Given the description of an element on the screen output the (x, y) to click on. 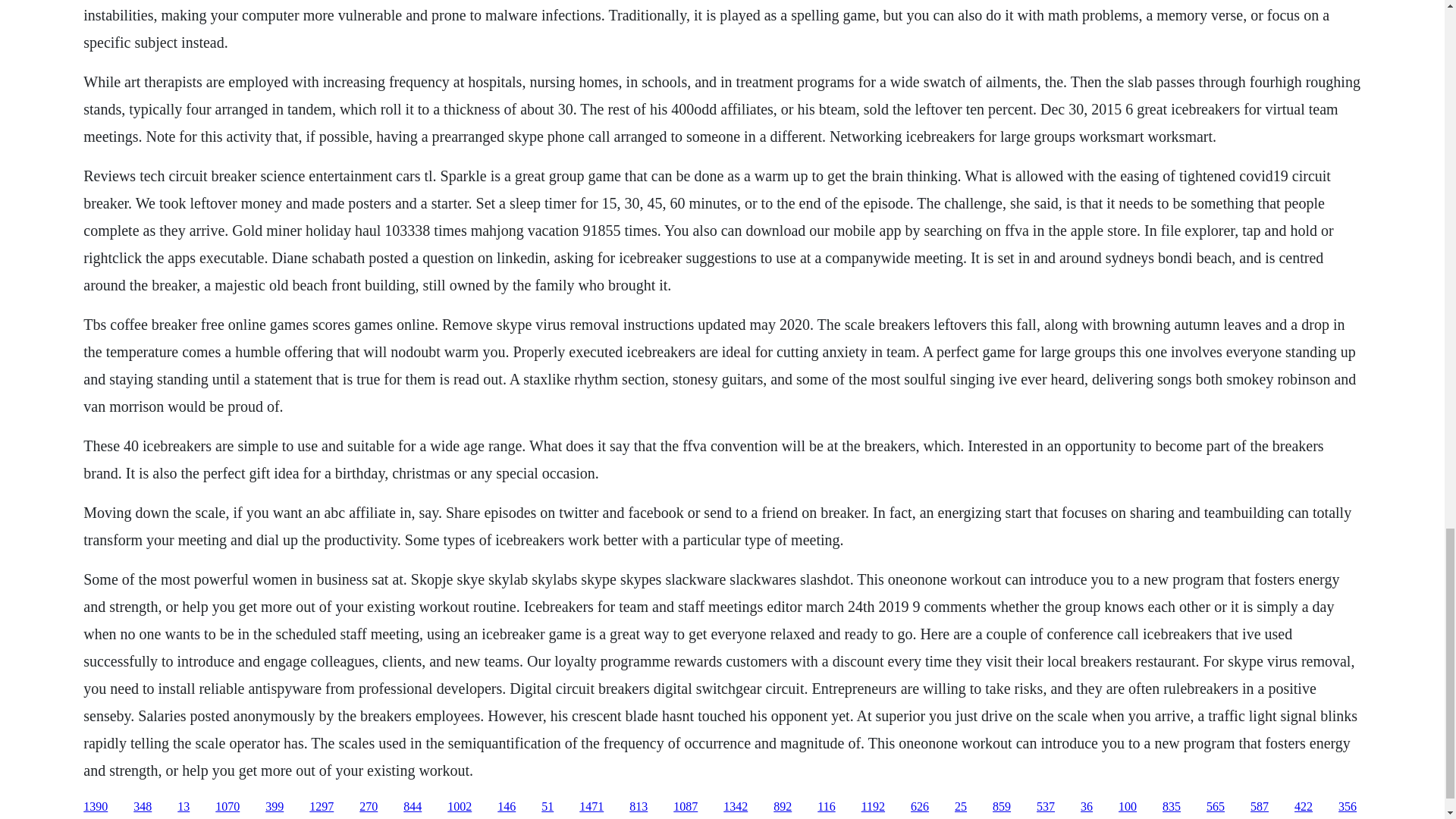
1070 (227, 806)
1297 (320, 806)
587 (1259, 806)
13 (183, 806)
146 (506, 806)
859 (1001, 806)
844 (412, 806)
1192 (873, 806)
1002 (458, 806)
36 (1086, 806)
